Given the description of an element on the screen output the (x, y) to click on. 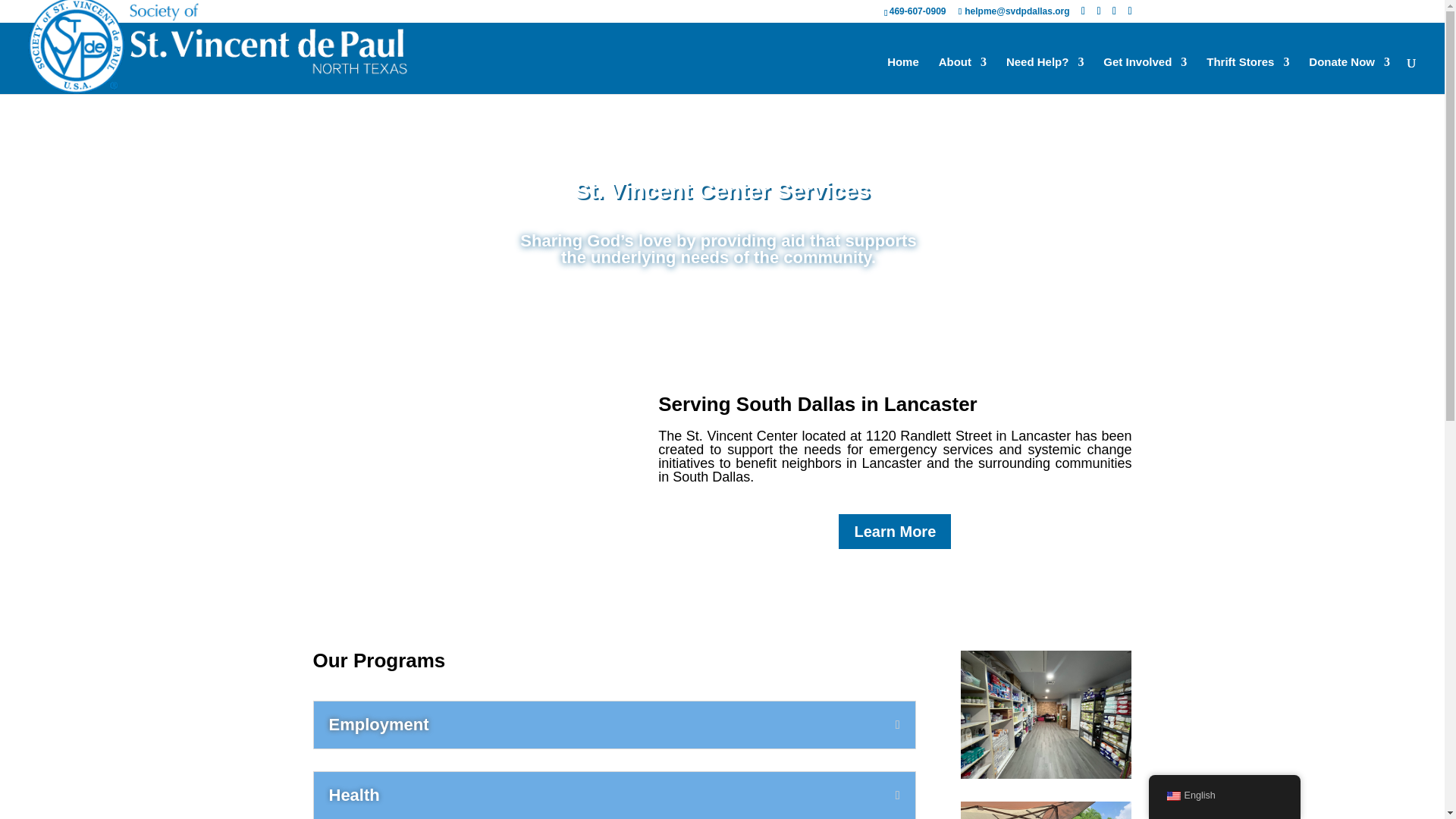
English (1172, 795)
About (963, 75)
Need Help? (1045, 75)
Get Involved (1144, 75)
Donate Now (1349, 75)
Learn More (894, 531)
Thrift Stores (1247, 75)
Lancaster - Altrusa (1045, 810)
